Given the description of an element on the screen output the (x, y) to click on. 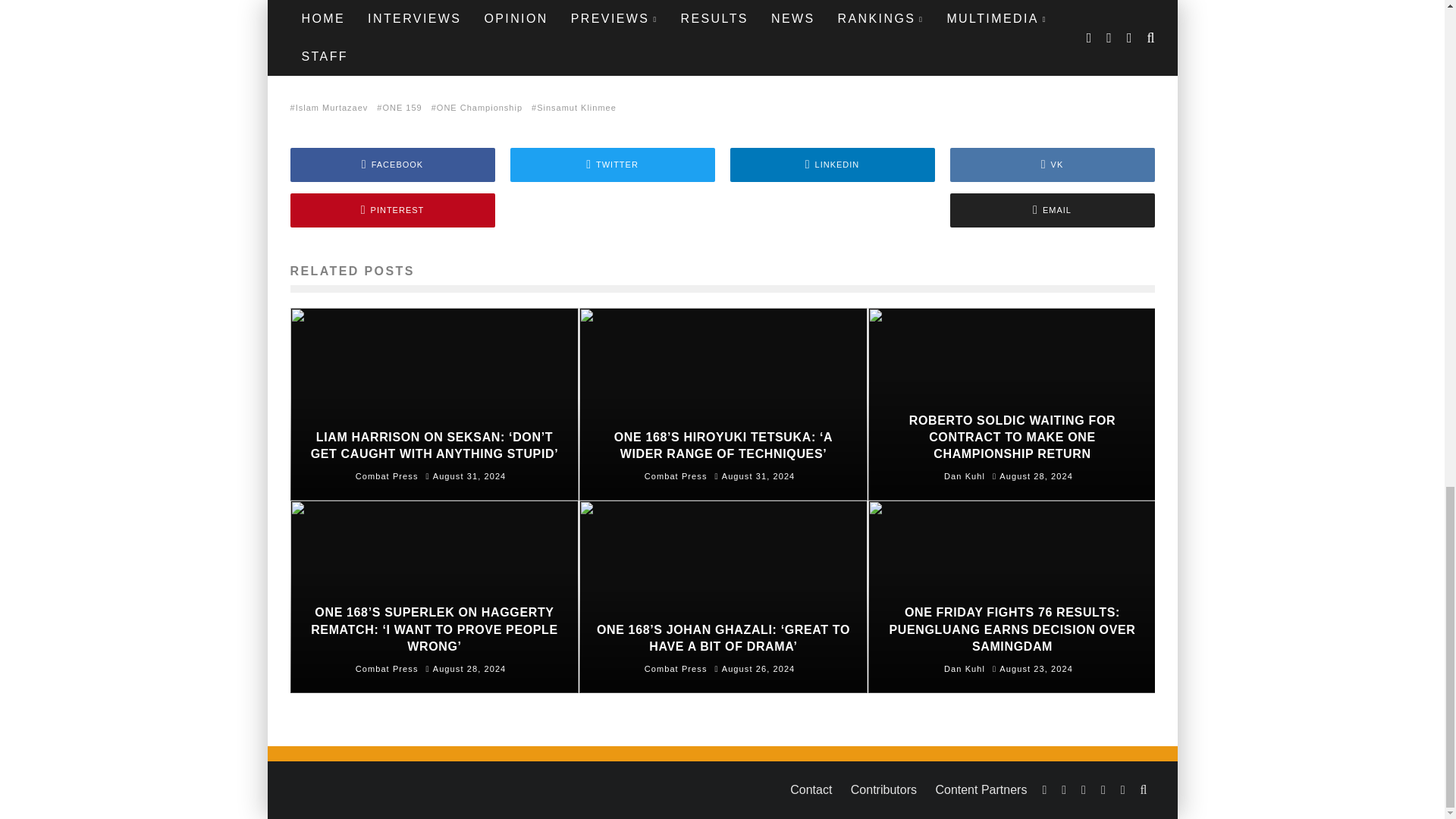
Posts by Combat Press (387, 668)
Posts by Combat Press (676, 475)
Posts by Combat Press (387, 475)
Posts by Dan Kuhl (964, 668)
Posts by Combat Press (676, 668)
Posts by Dan Kuhl (964, 475)
